Given the description of an element on the screen output the (x, y) to click on. 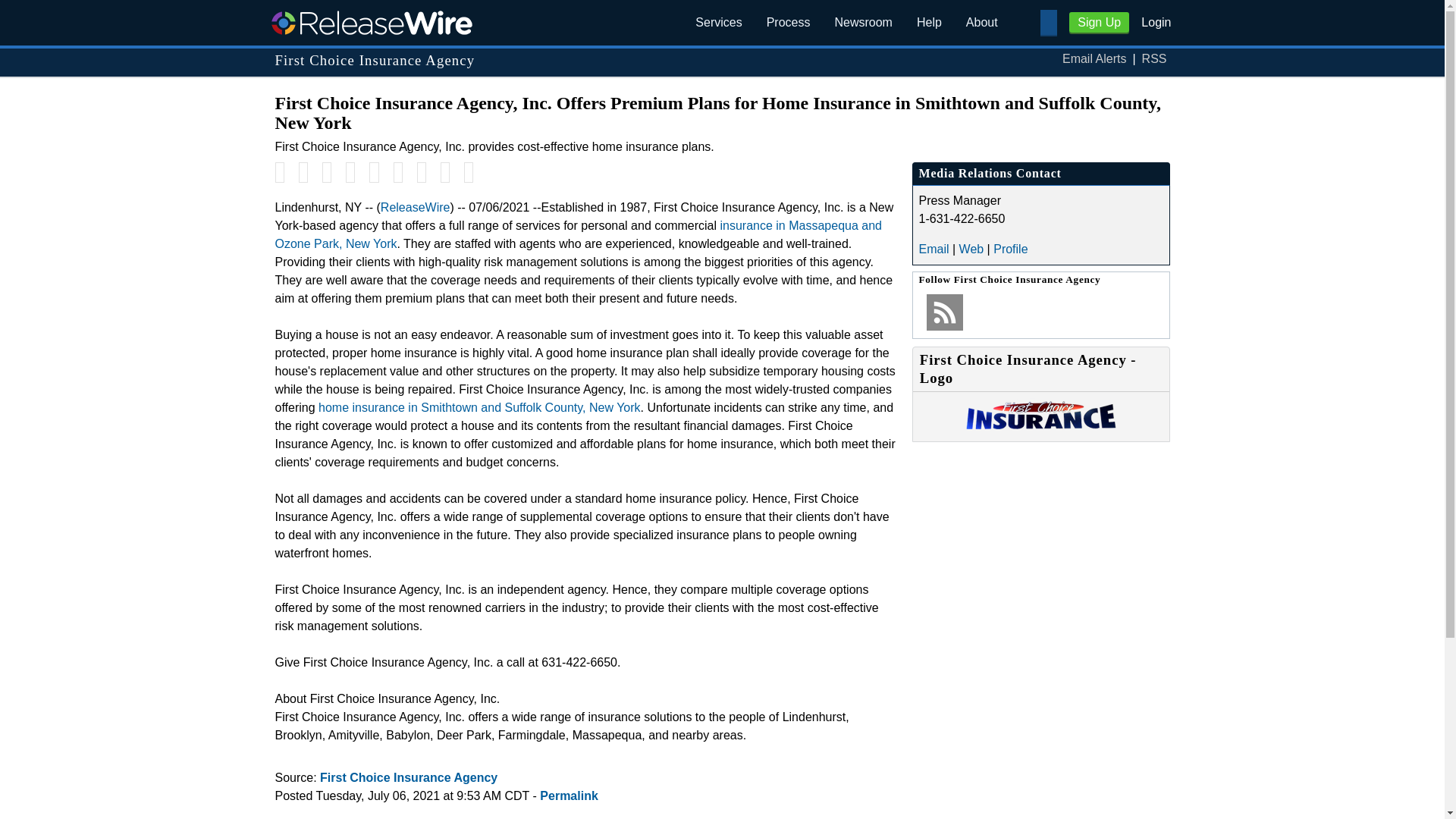
insurance in Massapequa and Ozone Park, New York (577, 234)
Email Alerts (1093, 58)
Process (788, 22)
Newsroom (863, 22)
ReleaseWire (414, 206)
Web (971, 248)
Services (718, 22)
Email (933, 248)
home insurance in Smithtown and Suffolk County, New York (479, 407)
First Choice Insurance Agency - Logo (1039, 425)
ReleaseWire (371, 22)
About (981, 22)
home insurance in Smithtown and Suffolk County, New York (479, 407)
Login (1155, 21)
Sign Up (1098, 22)
